Given the description of an element on the screen output the (x, y) to click on. 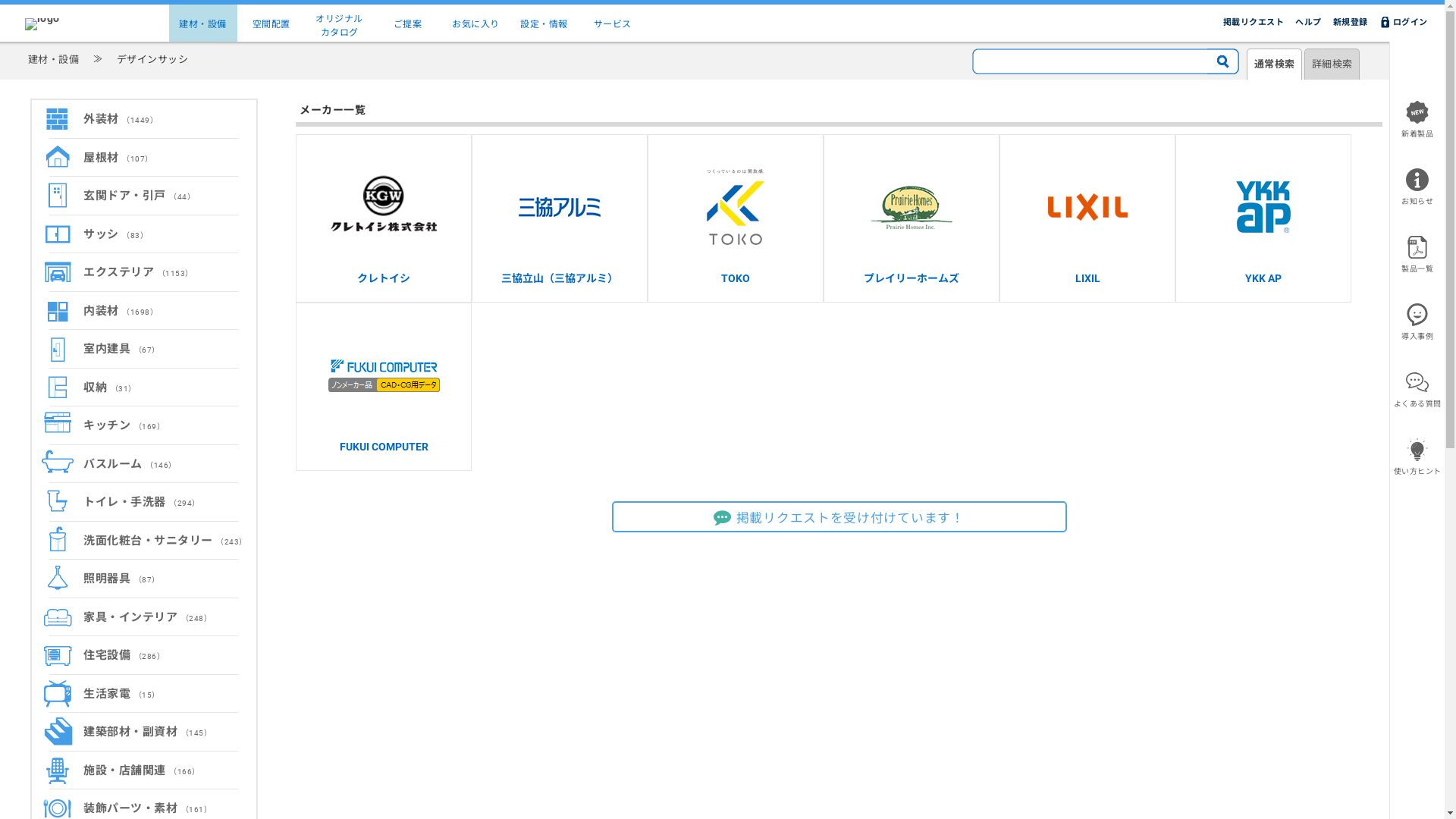
FUKUI COMPUTER Element type: text (383, 386)
TOKO Element type: text (735, 217)
LIXIL Element type: text (1087, 217)
YKK AP Element type: text (1263, 217)
